Given the description of an element on the screen output the (x, y) to click on. 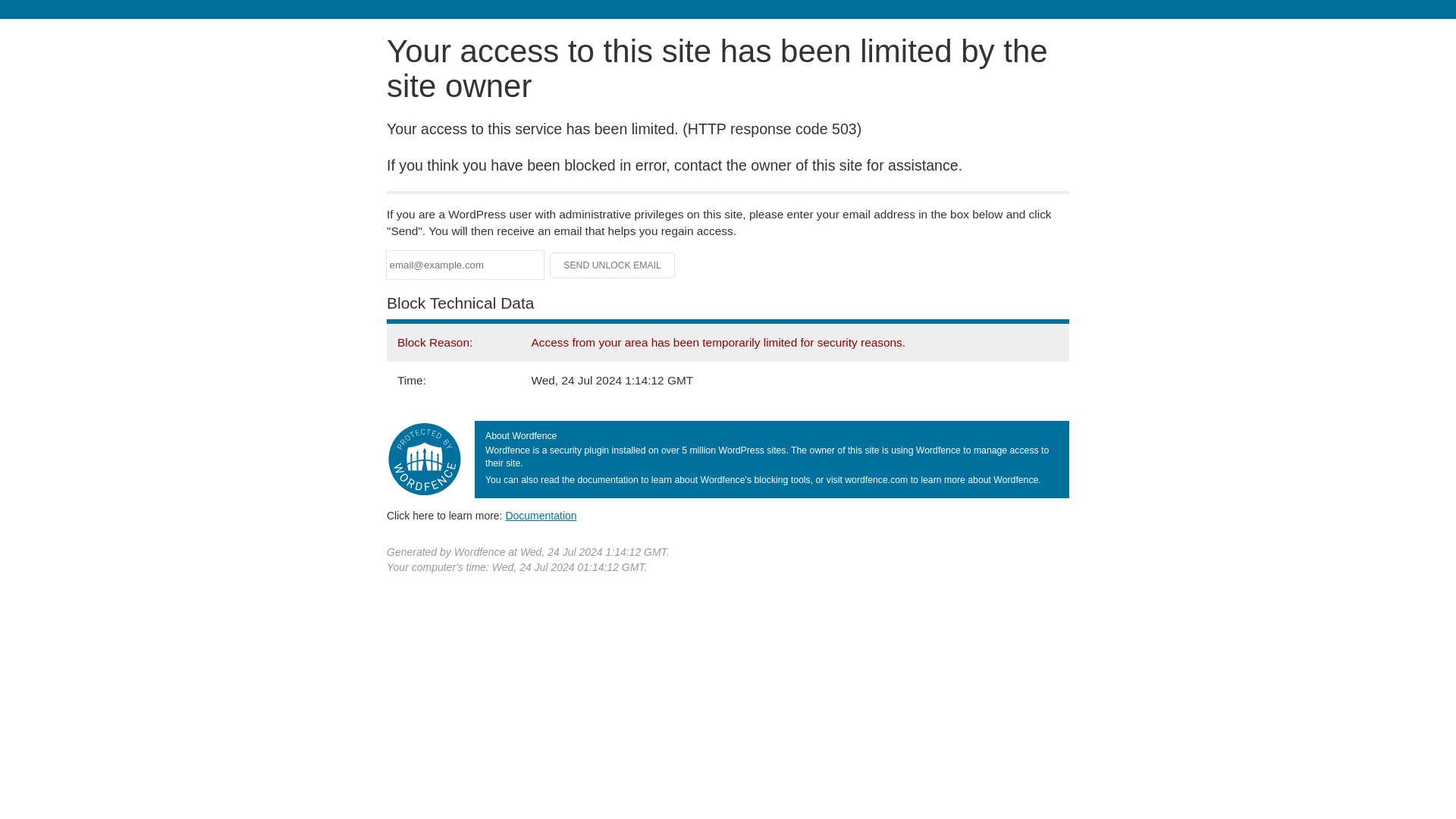
Documentation (540, 515)
Send Unlock Email (612, 265)
Send Unlock Email (612, 265)
